Given the description of an element on the screen output the (x, y) to click on. 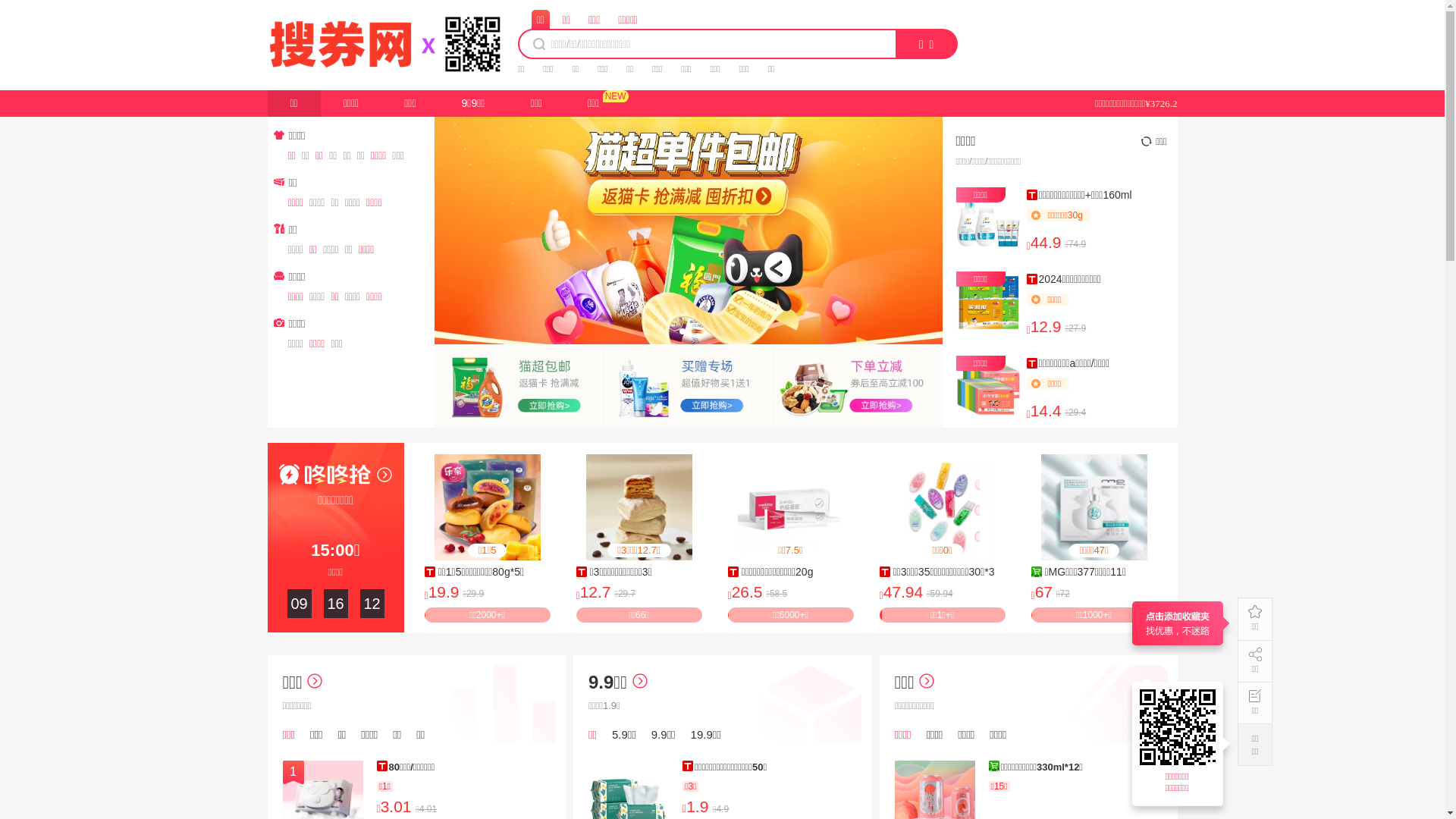
https://17.souquan.wang Element type: hover (1179, 727)
